Given the description of an element on the screen output the (x, y) to click on. 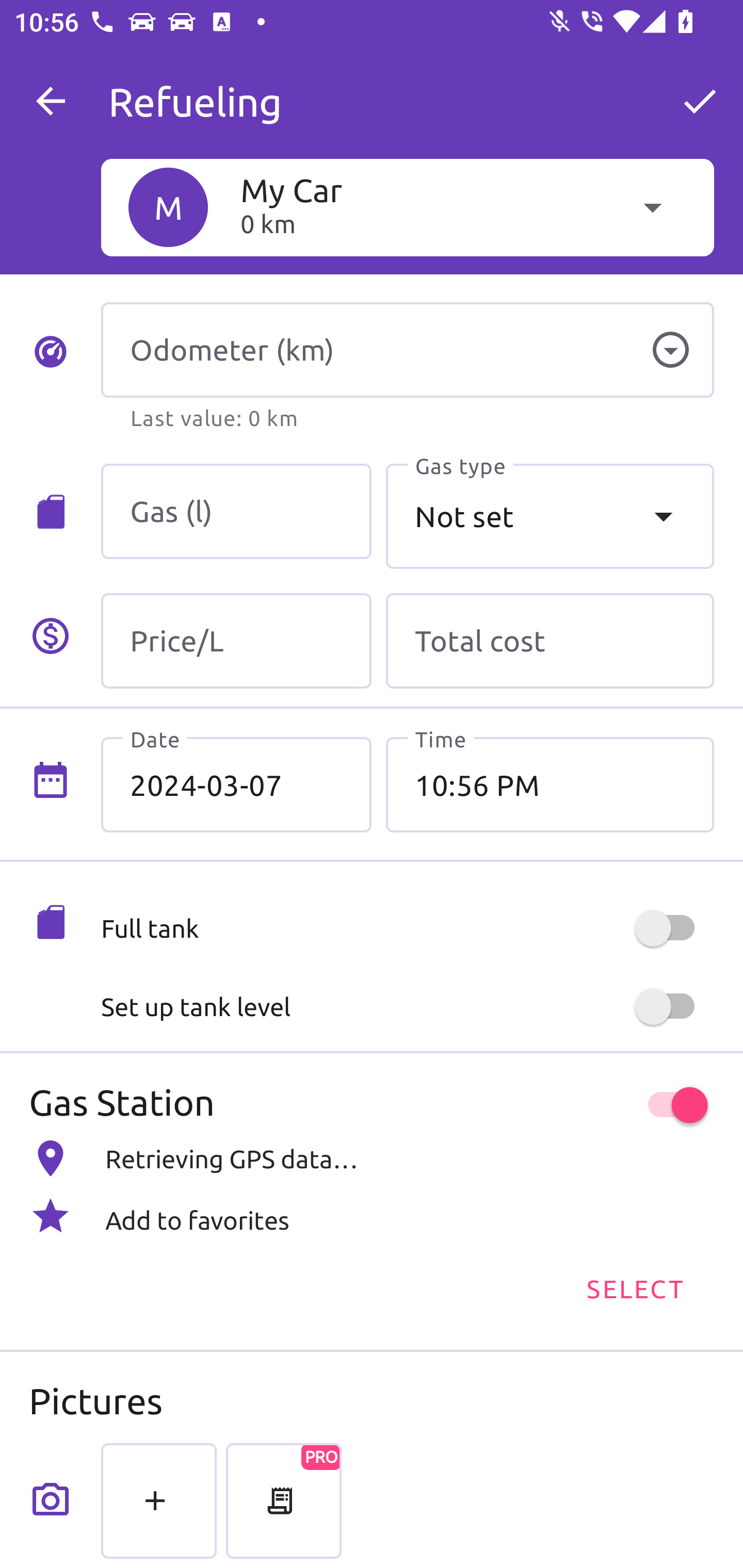
Navigate up (50, 101)
OK (699, 101)
M My Car 0 km (407, 206)
Odometer (km) (407, 350)
Odometer (670, 349)
Gas (l) (236, 511)
Not set (549, 516)
Price/L (236, 640)
Total cost  (549, 640)
2024-03-07 (236, 784)
10:56 PM (549, 784)
Full tank (407, 928)
Set up tank level (407, 1006)
Add to favorites (371, 1215)
SELECT (634, 1287)
